Given the description of an element on the screen output the (x, y) to click on. 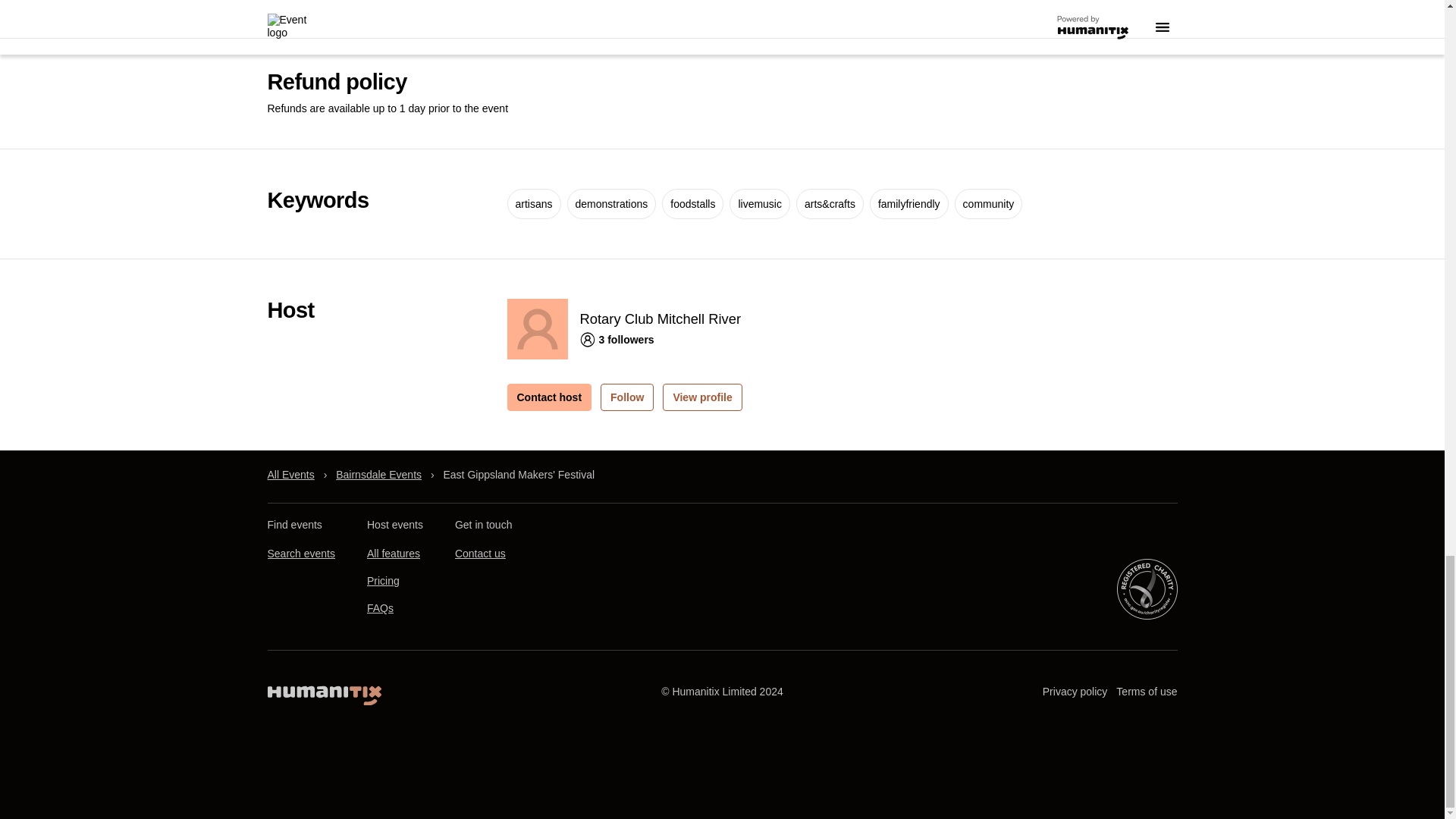
All Events (290, 474)
All features (393, 554)
Contact host (548, 397)
Bairnsdale Events (379, 474)
Search events (300, 554)
Follow (626, 397)
View profile (701, 397)
East Gippsland Makers' Festival (518, 474)
